Given the description of an element on the screen output the (x, y) to click on. 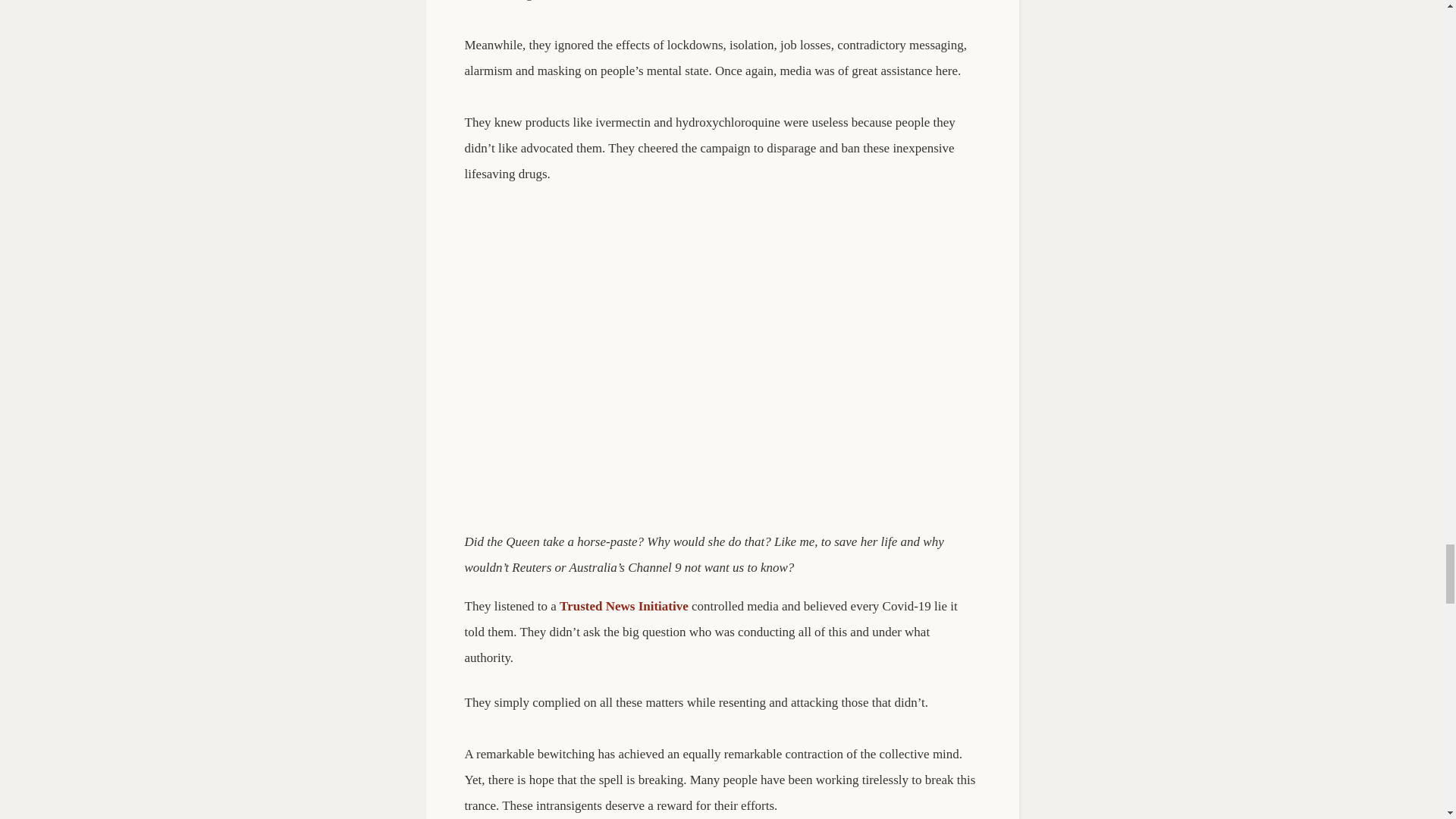
Trusted News Initiative (623, 605)
